Given the description of an element on the screen output the (x, y) to click on. 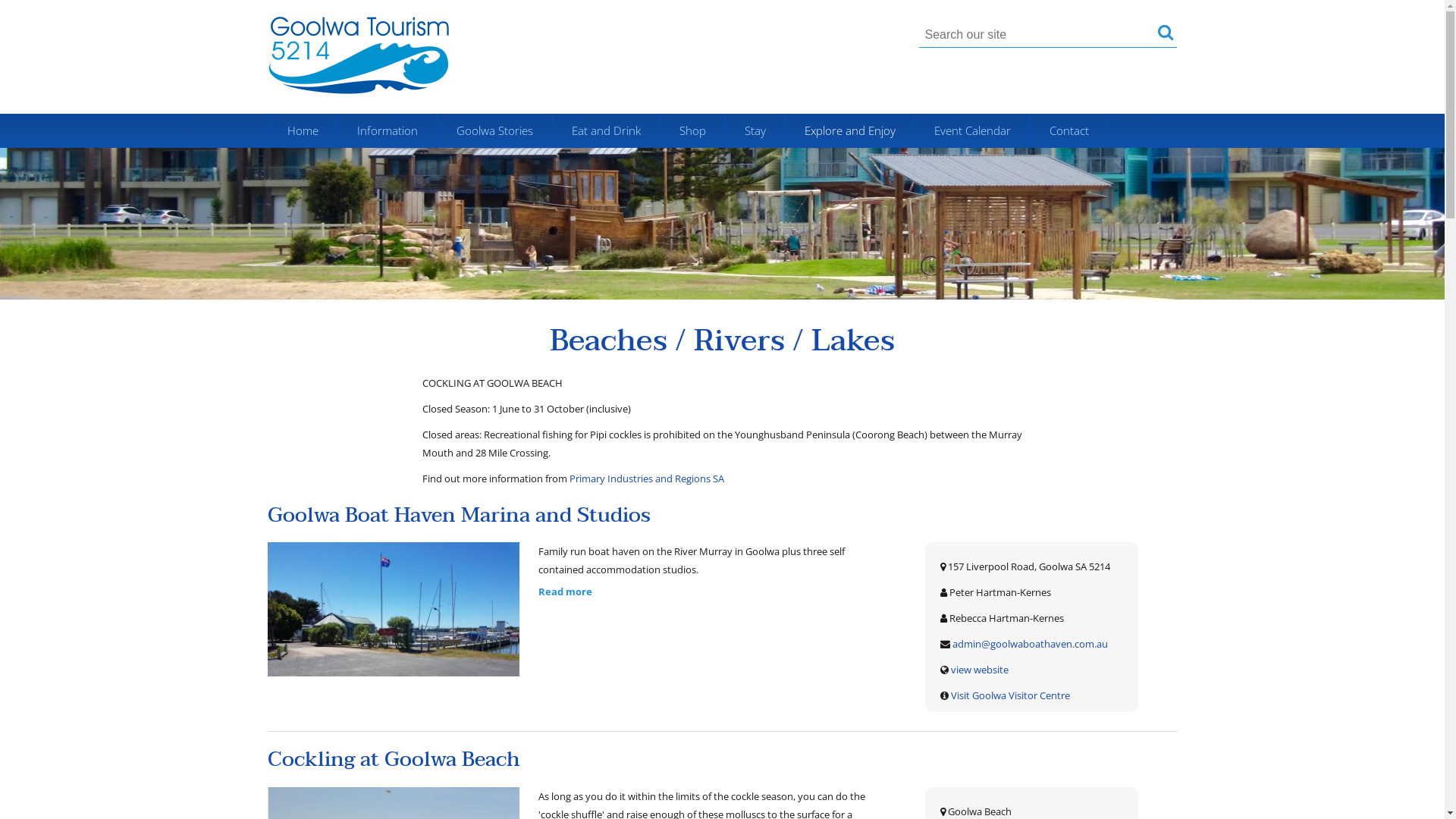
Event Calendar Element type: text (971, 130)
Home Element type: text (302, 130)
Goolwa Tourism 5214 Element type: text (357, 55)
Stay Element type: text (754, 130)
Goolwa Boat Haven Marina and Studios Element type: text (457, 514)
Explore and Enjoy Element type: text (849, 130)
Visit Goolwa Visitor Centre Element type: text (1010, 695)
Read more Element type: text (565, 591)
Primary Industries and Regions SA Element type: text (646, 478)
Shop Element type: text (691, 130)
Goolwa Stories Element type: text (493, 130)
Contact Element type: text (1068, 130)
Cockling at Goolwa Beach Element type: text (392, 758)
admin@goolwaboathaven.com.au Element type: text (1028, 643)
Eat and Drink Element type: text (605, 130)
Information Element type: text (387, 130)
view website Element type: text (979, 669)
